Given the description of an element on the screen output the (x, y) to click on. 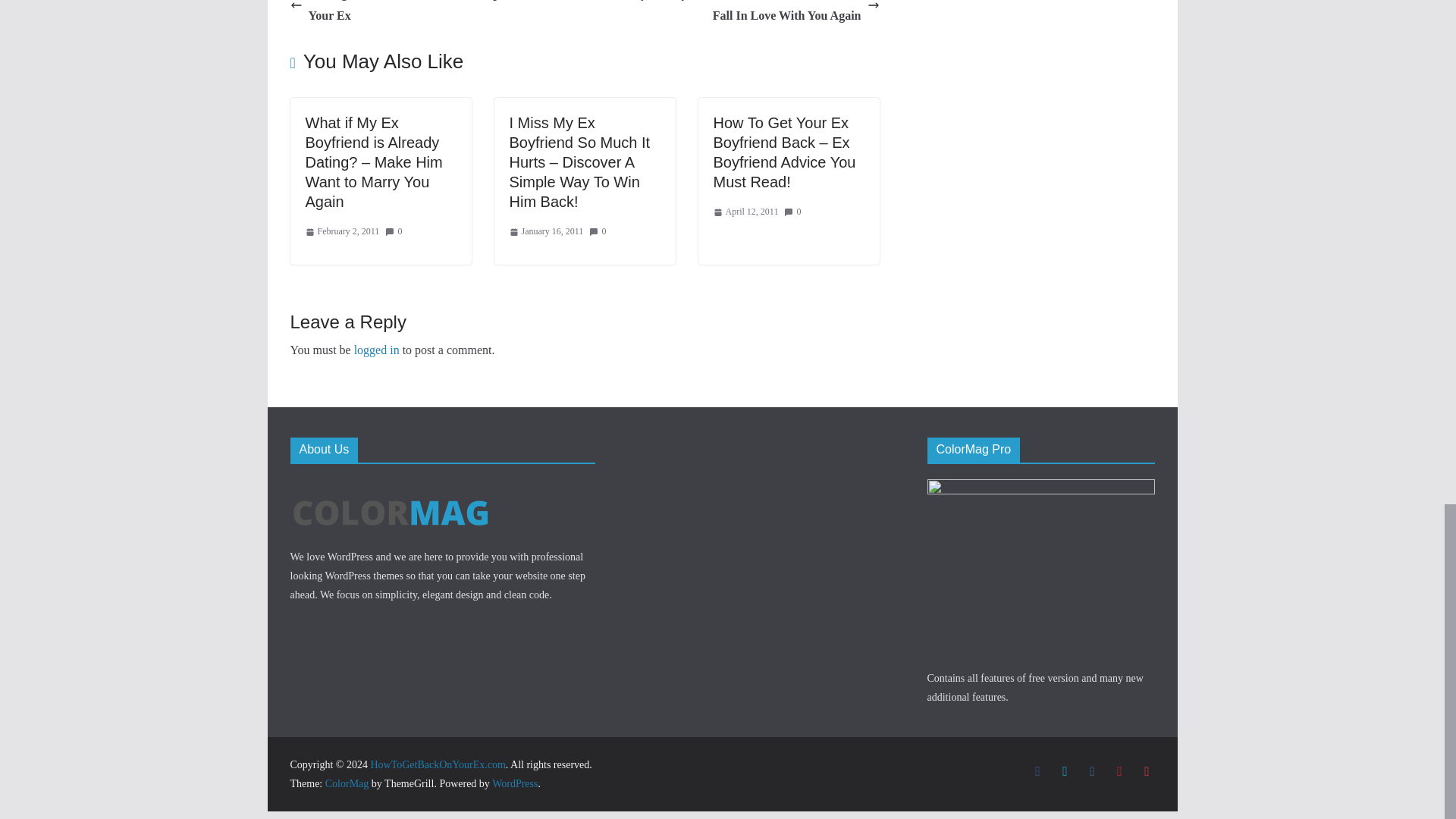
12:02 am (341, 231)
11:51 pm (546, 231)
